Given the description of an element on the screen output the (x, y) to click on. 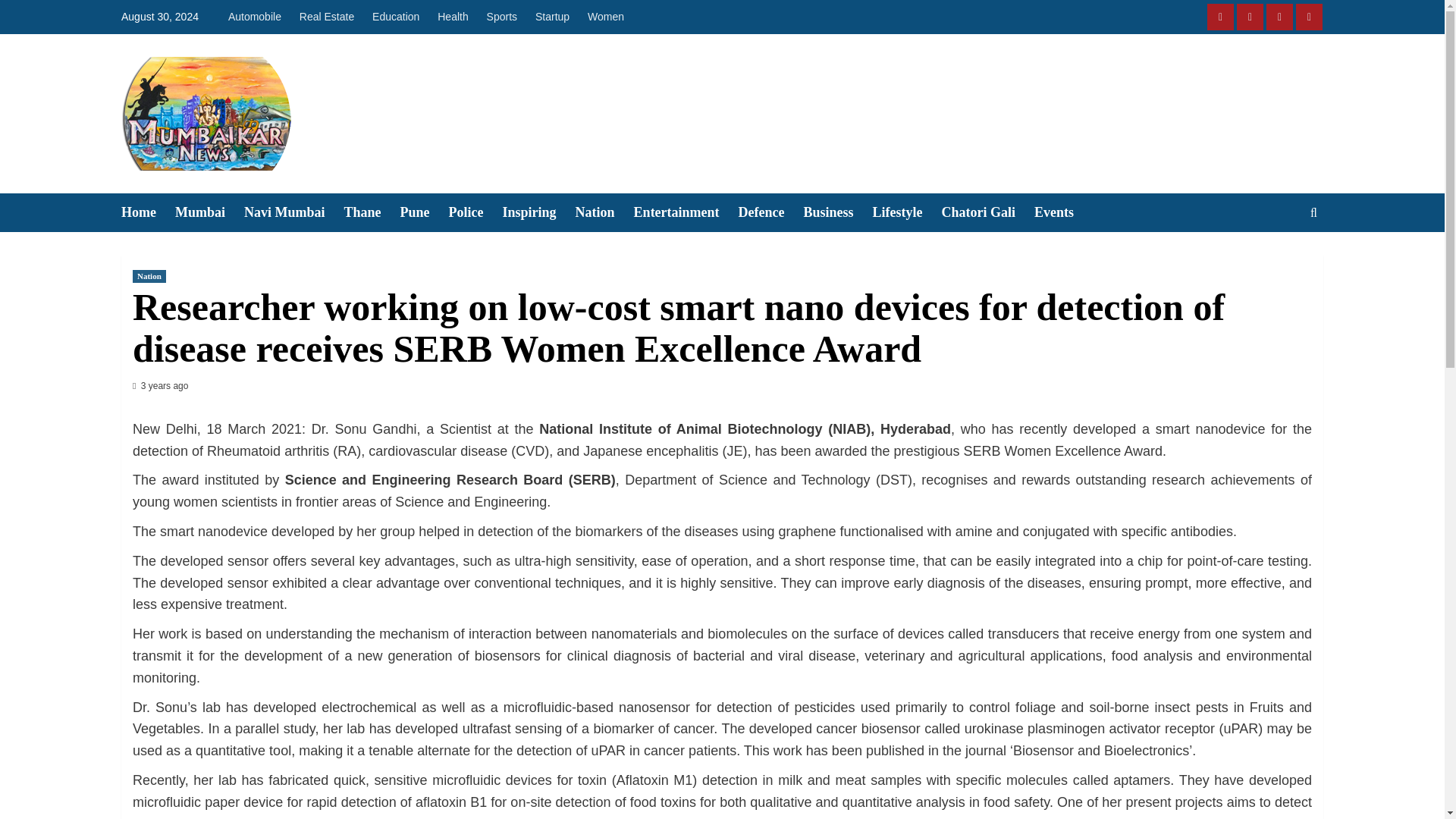
Instagram (1249, 17)
Defence (770, 212)
Police (475, 212)
Business (837, 212)
Automobile (258, 17)
Pune (424, 212)
Health (452, 17)
Inspiring (538, 212)
Entertainment (685, 212)
Lifestyle (907, 212)
